Given the description of an element on the screen output the (x, y) to click on. 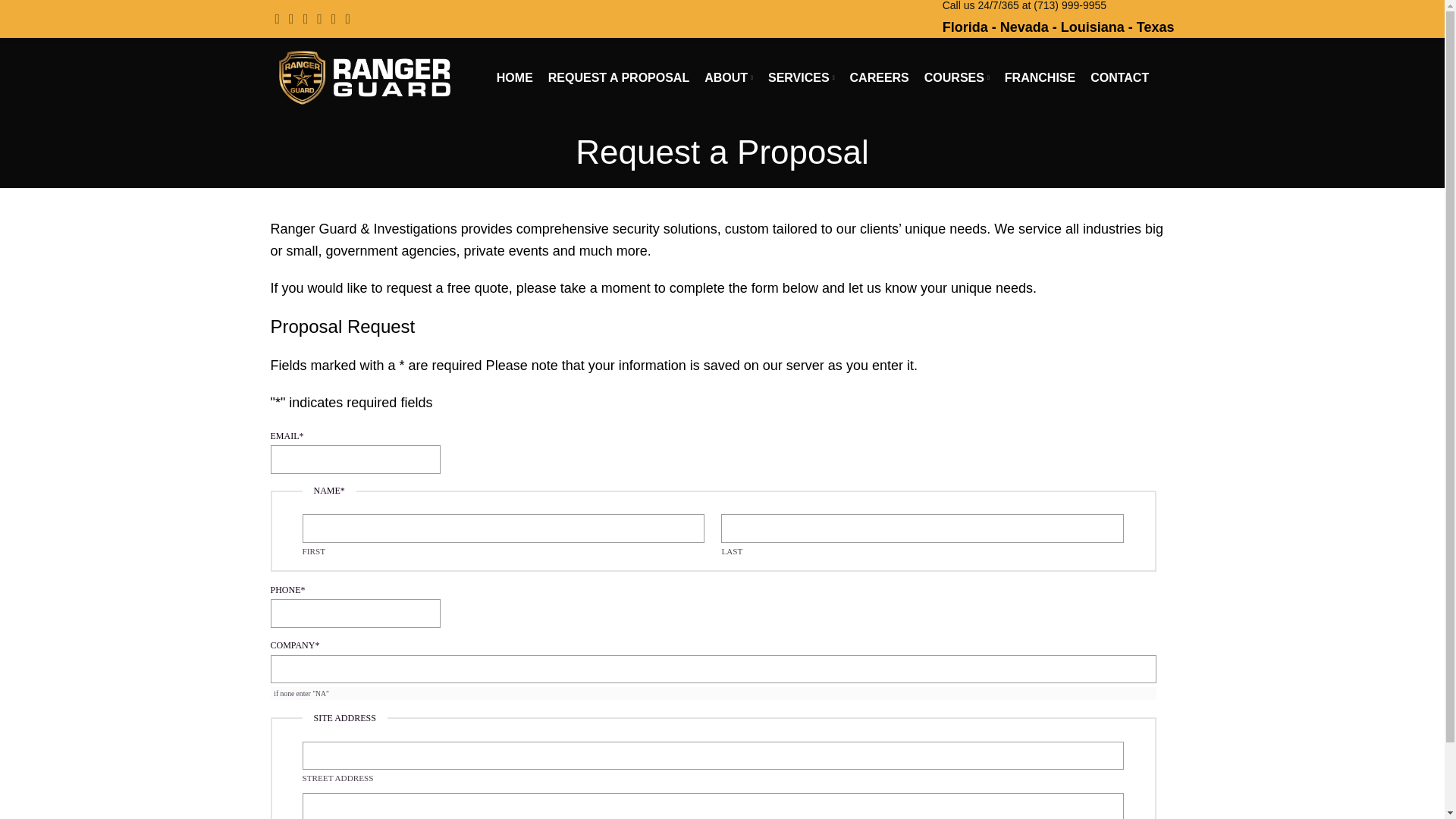
COURSES (957, 77)
FRANCHISE (1039, 77)
Florida (965, 27)
Louisiana (1092, 27)
HOME (514, 77)
SERVICES (801, 77)
CAREERS (879, 77)
ABOUT (728, 77)
REQUEST A PROPOSAL (618, 77)
Texas (1155, 27)
CONTACT (1119, 77)
Nevada (1024, 27)
